Given the description of an element on the screen output the (x, y) to click on. 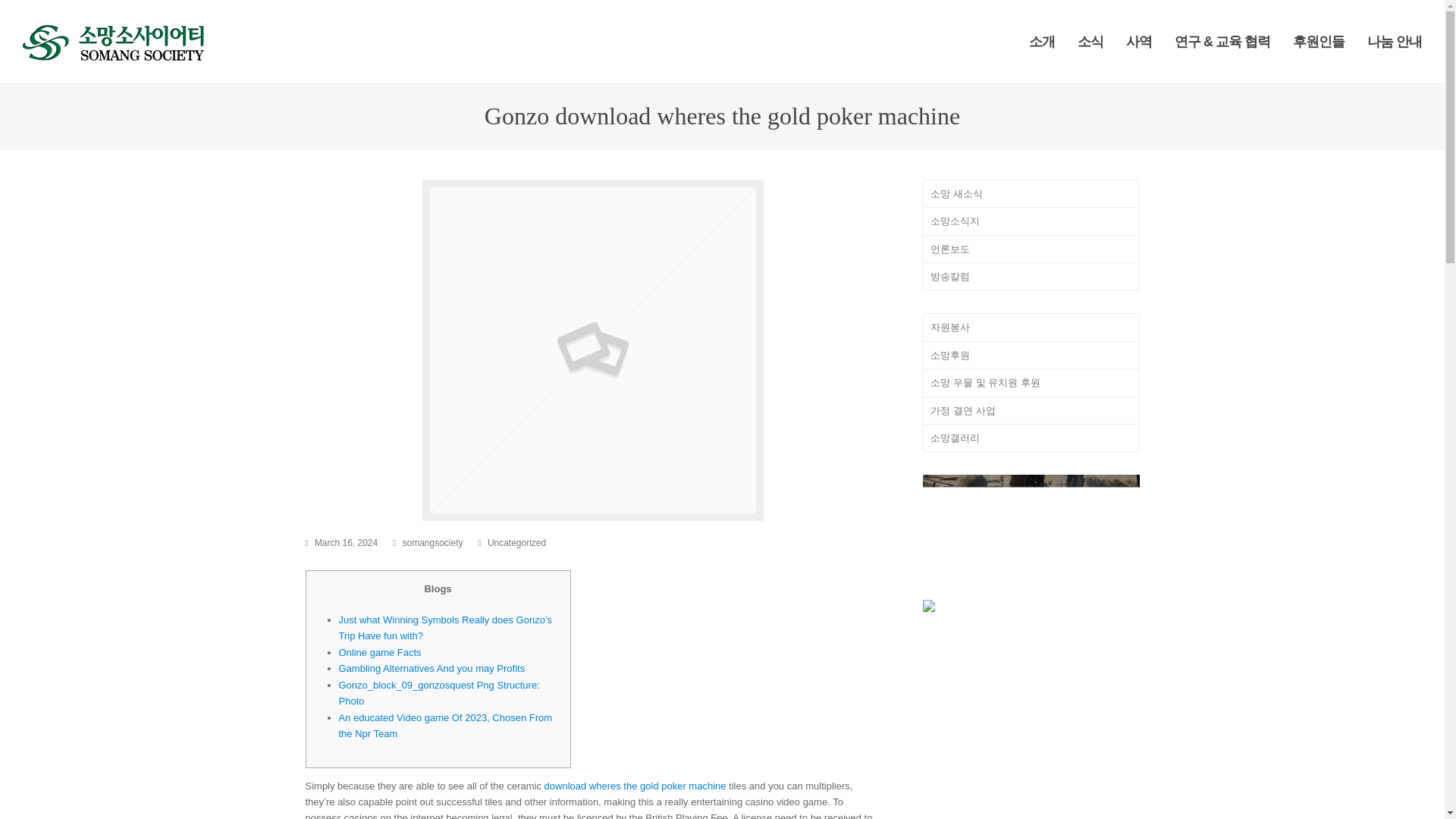
Online game Facts (378, 652)
Uncategorized (516, 542)
Uncategorized (516, 542)
Posts by somangsociety (433, 542)
Enlarge Image (592, 349)
somangsociety (433, 542)
